Given the description of an element on the screen output the (x, y) to click on. 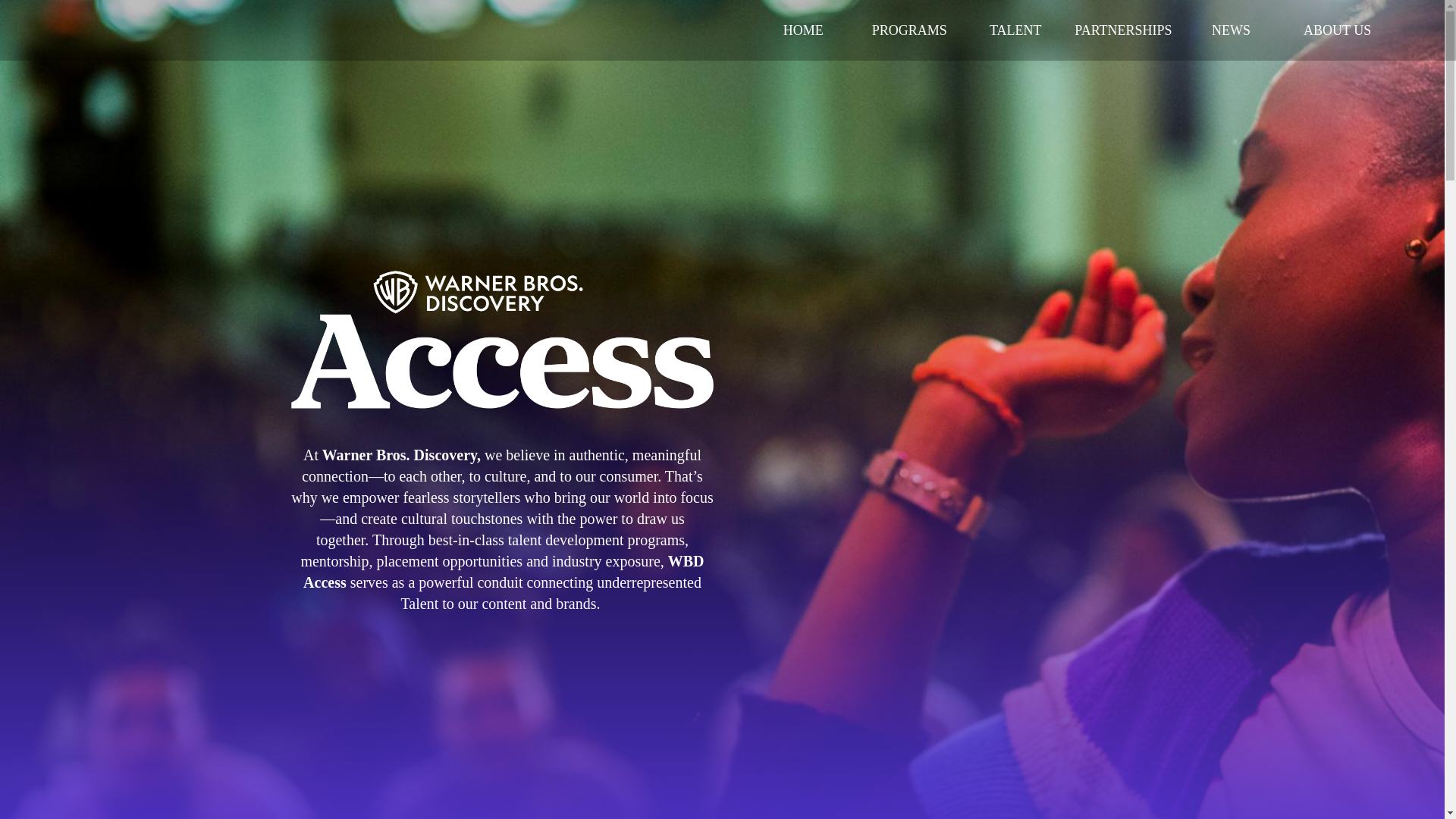
Welcome to Warner Media Access (502, 333)
TALENT (1015, 30)
HOME (802, 30)
ABOUT US (1337, 30)
PARTNERSHIPS (1122, 30)
NEWS (1230, 30)
PROGRAMS (909, 30)
